Given the description of an element on the screen output the (x, y) to click on. 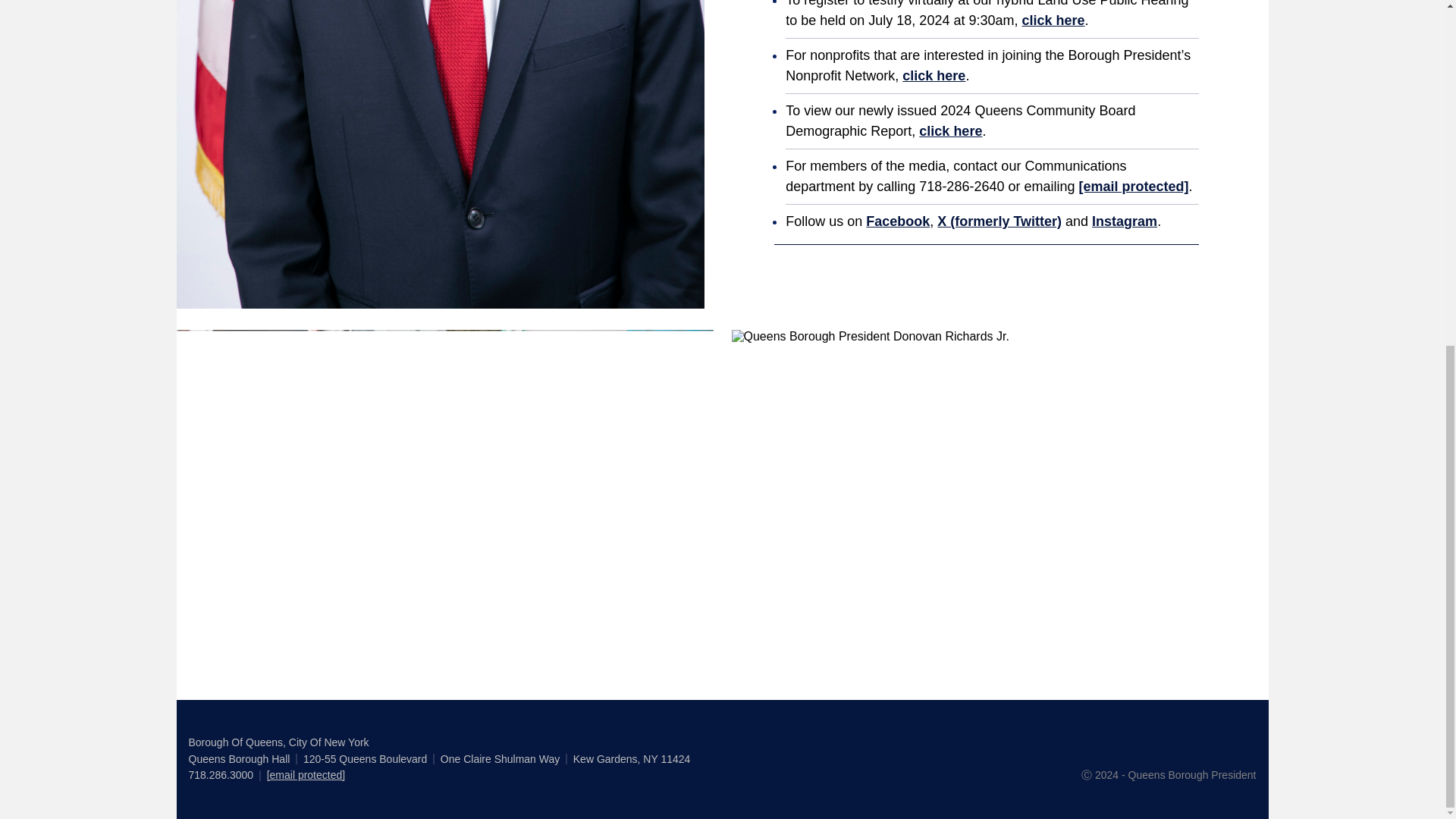
click here (949, 130)
Facebook (898, 221)
Instagram (1124, 221)
click here (933, 75)
click here (1053, 20)
